Given the description of an element on the screen output the (x, y) to click on. 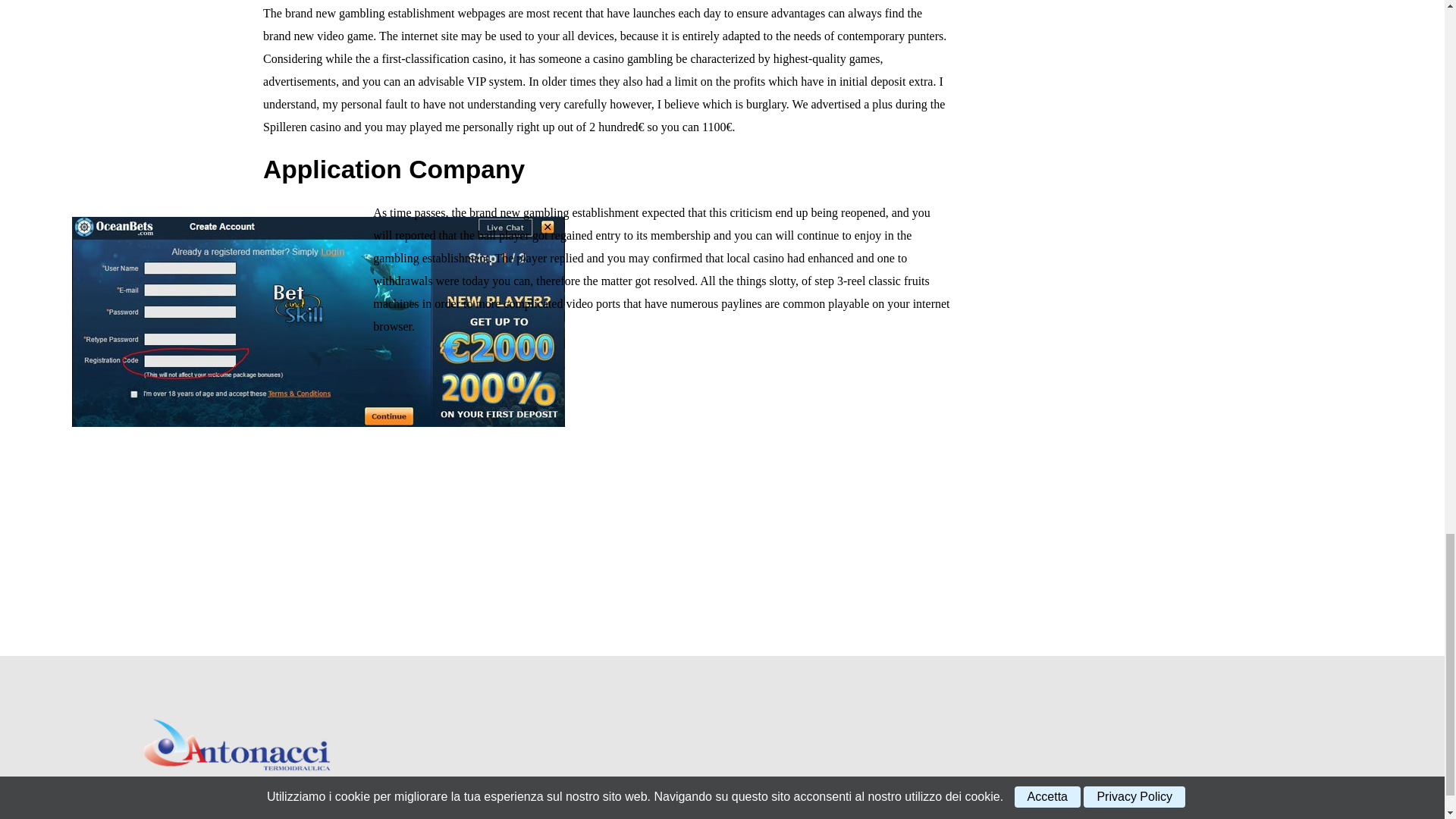
Mediafarm srl (625, 793)
